Given the description of an element on the screen output the (x, y) to click on. 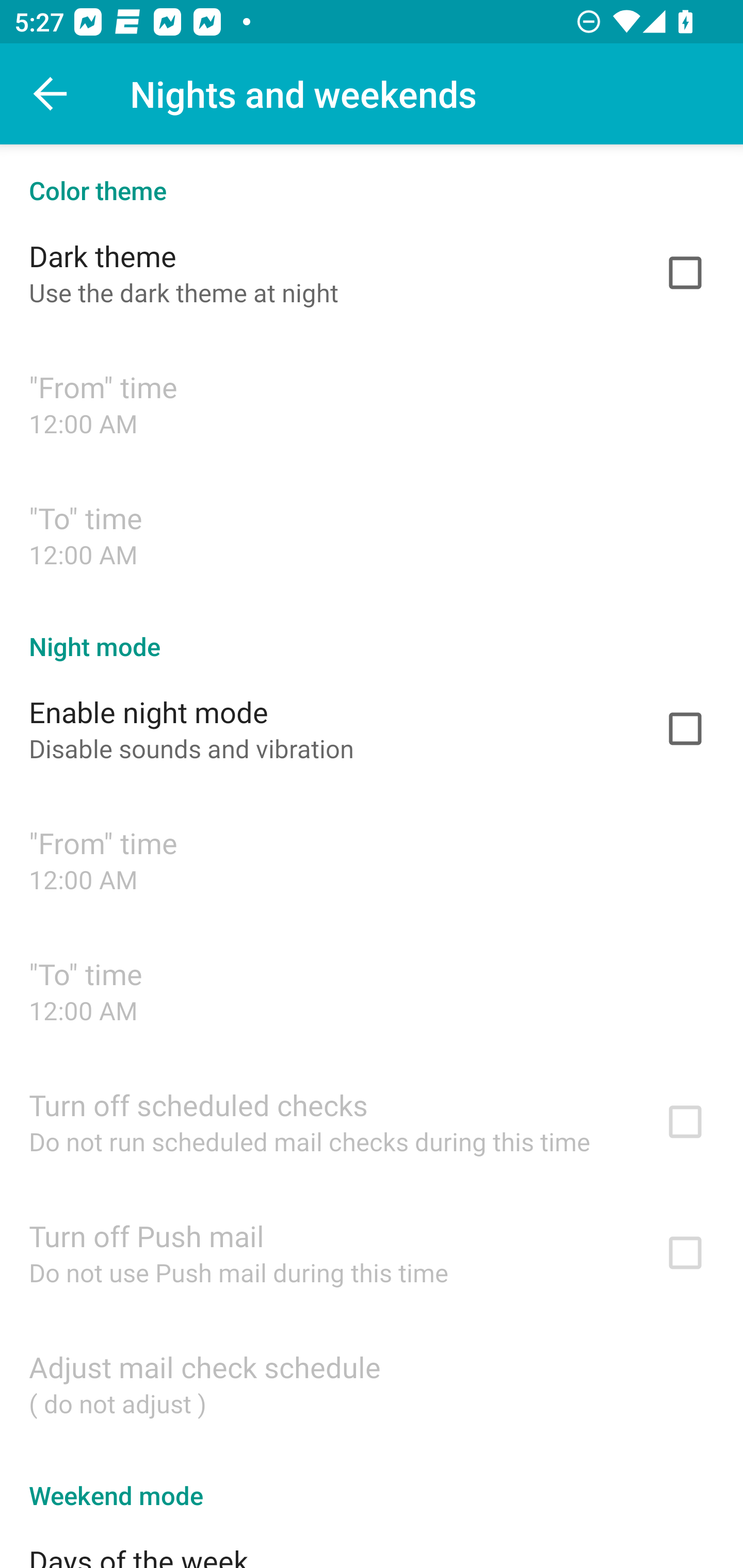
Navigate up (50, 93)
Dark theme Use the dark theme at night (371, 272)
"From" time 12:00 AM (371, 403)
"To" time 12:00 AM (371, 534)
Enable night mode Disable sounds and vibration (371, 728)
"From" time 12:00 AM (371, 859)
"To" time 12:00 AM (371, 990)
Adjust mail check schedule ( do not adjust ) (371, 1383)
